Given the description of an element on the screen output the (x, y) to click on. 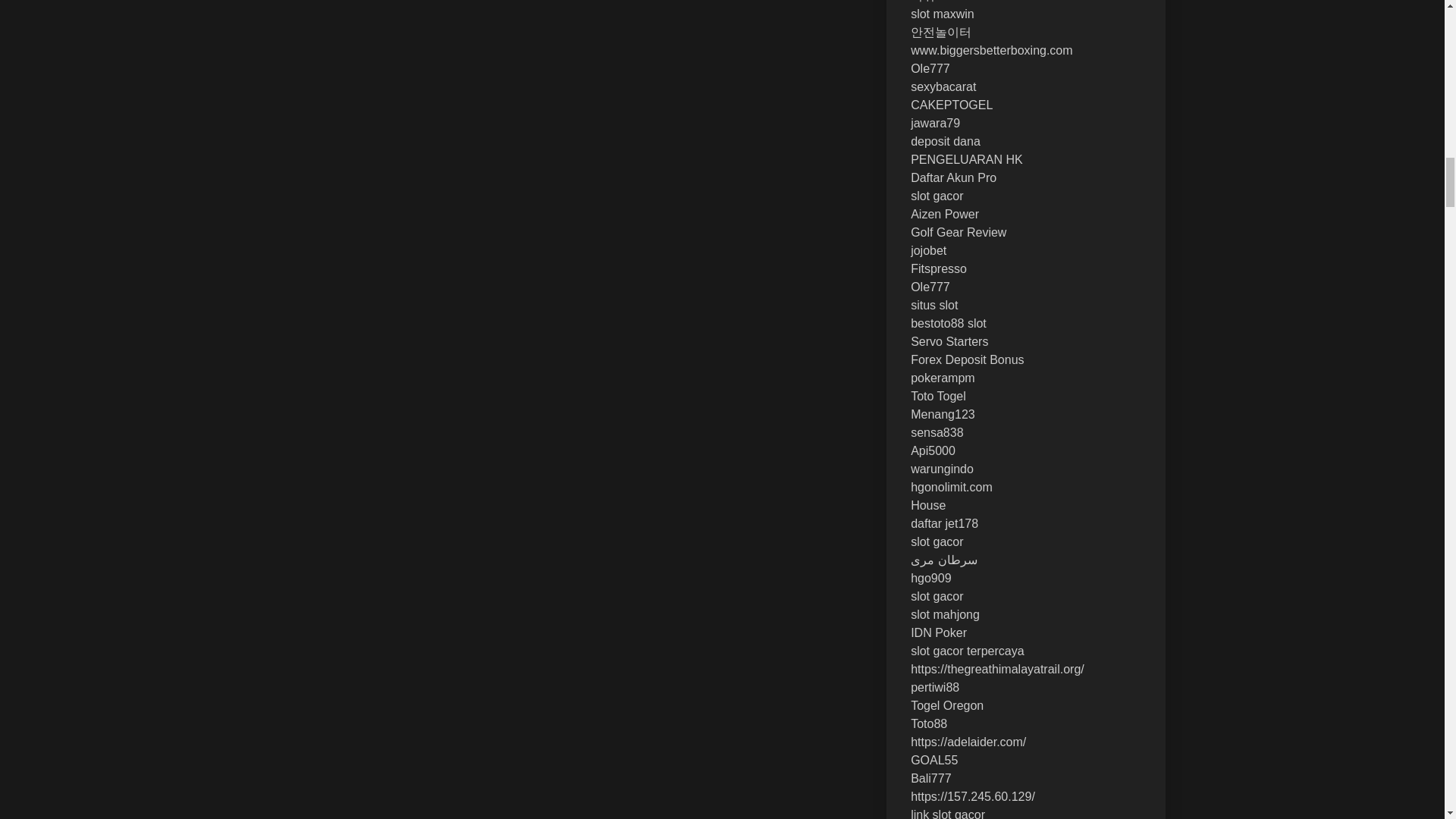
jojobet (928, 250)
